Given the description of an element on the screen output the (x, y) to click on. 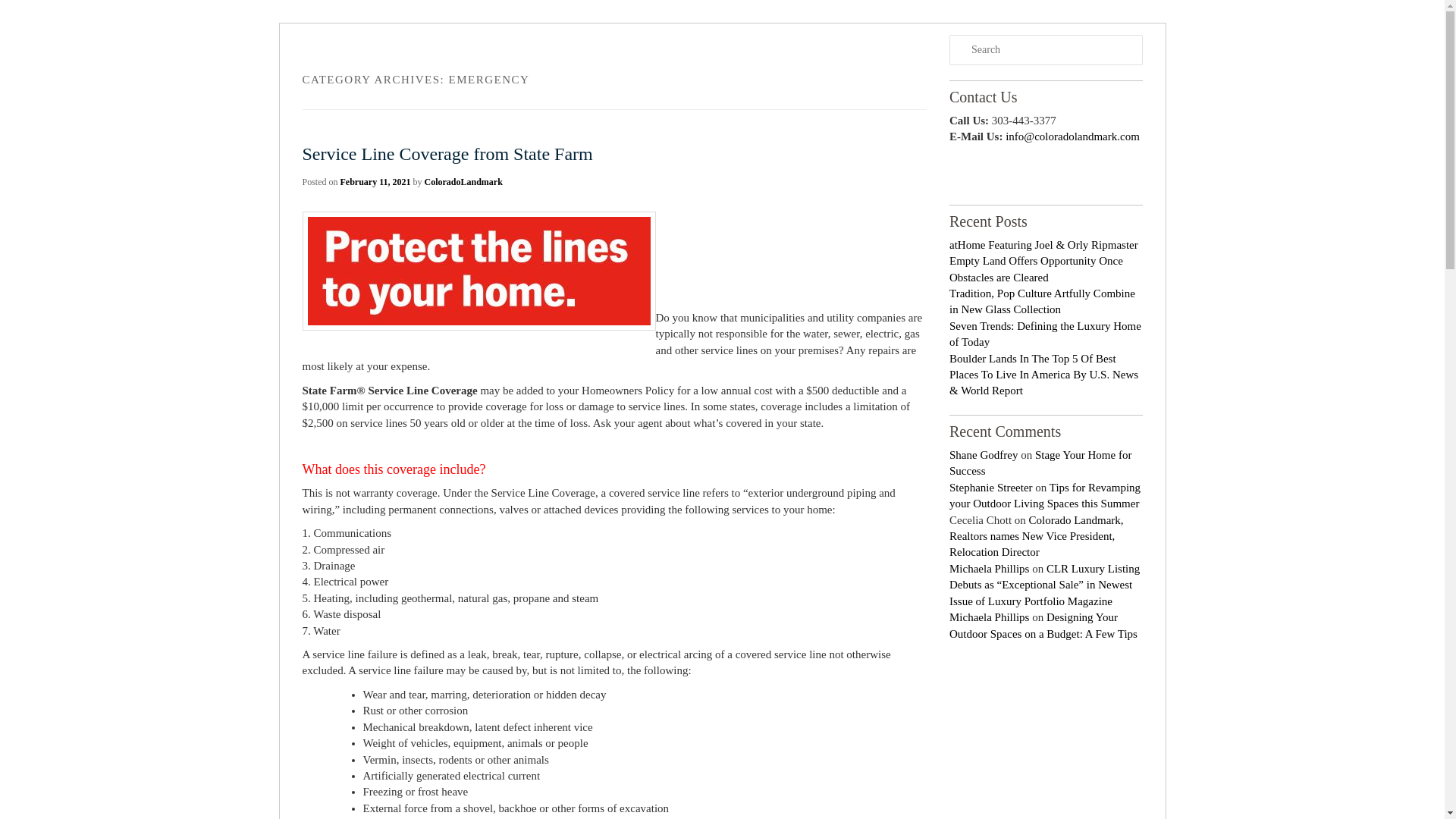
11:34 am (375, 181)
February 11, 2021 (375, 181)
ColoradoLandmark (463, 181)
Permalink to Service Line Coverage from State Farm (446, 153)
View all posts by ColoradoLandmark (463, 181)
Service Line Coverage from State Farm (446, 153)
Search (21, 10)
